Given the description of an element on the screen output the (x, y) to click on. 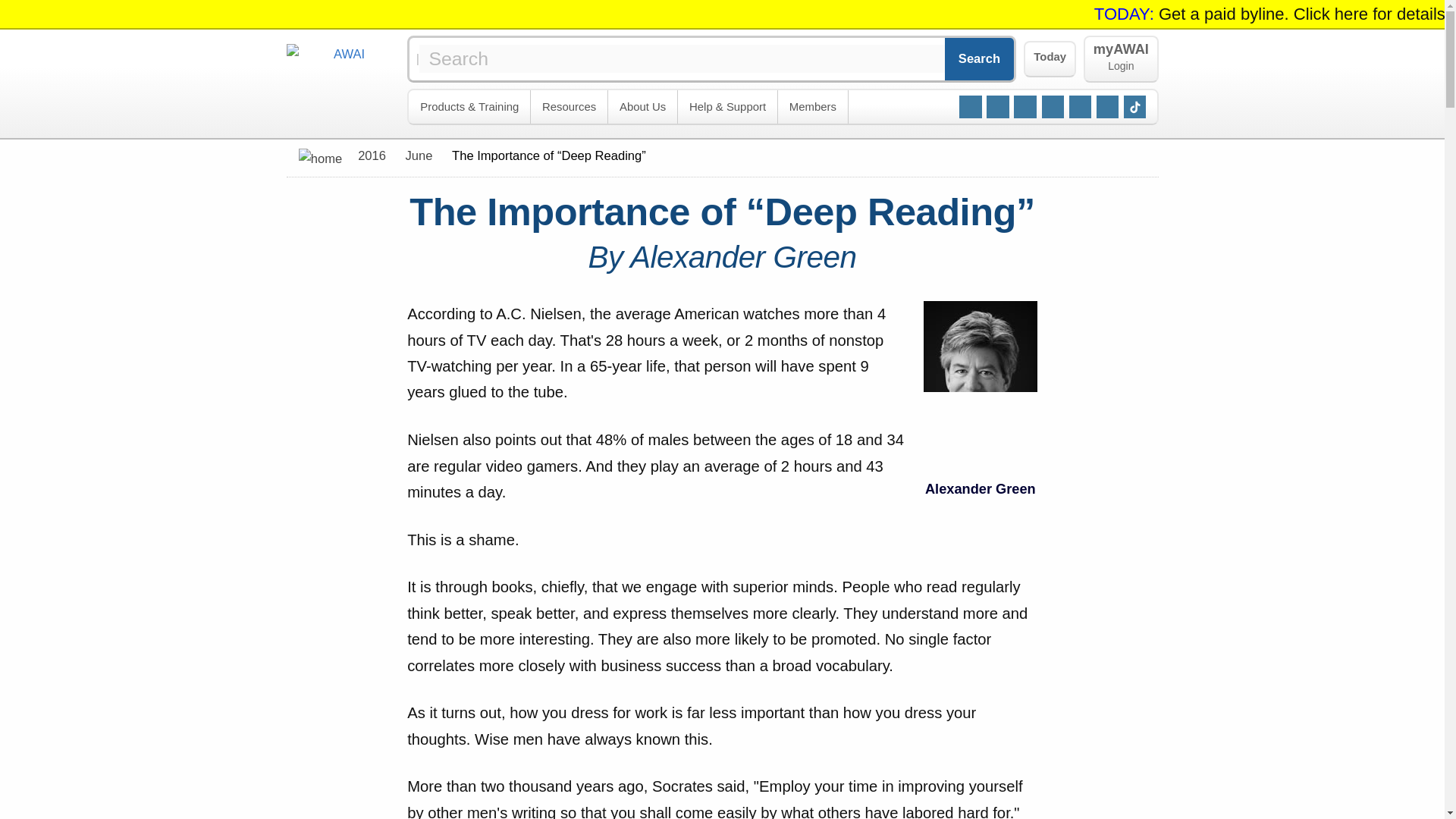
Members (812, 107)
Search (979, 58)
Today (1049, 58)
About Us (1120, 58)
Resources (643, 107)
